Given the description of an element on the screen output the (x, y) to click on. 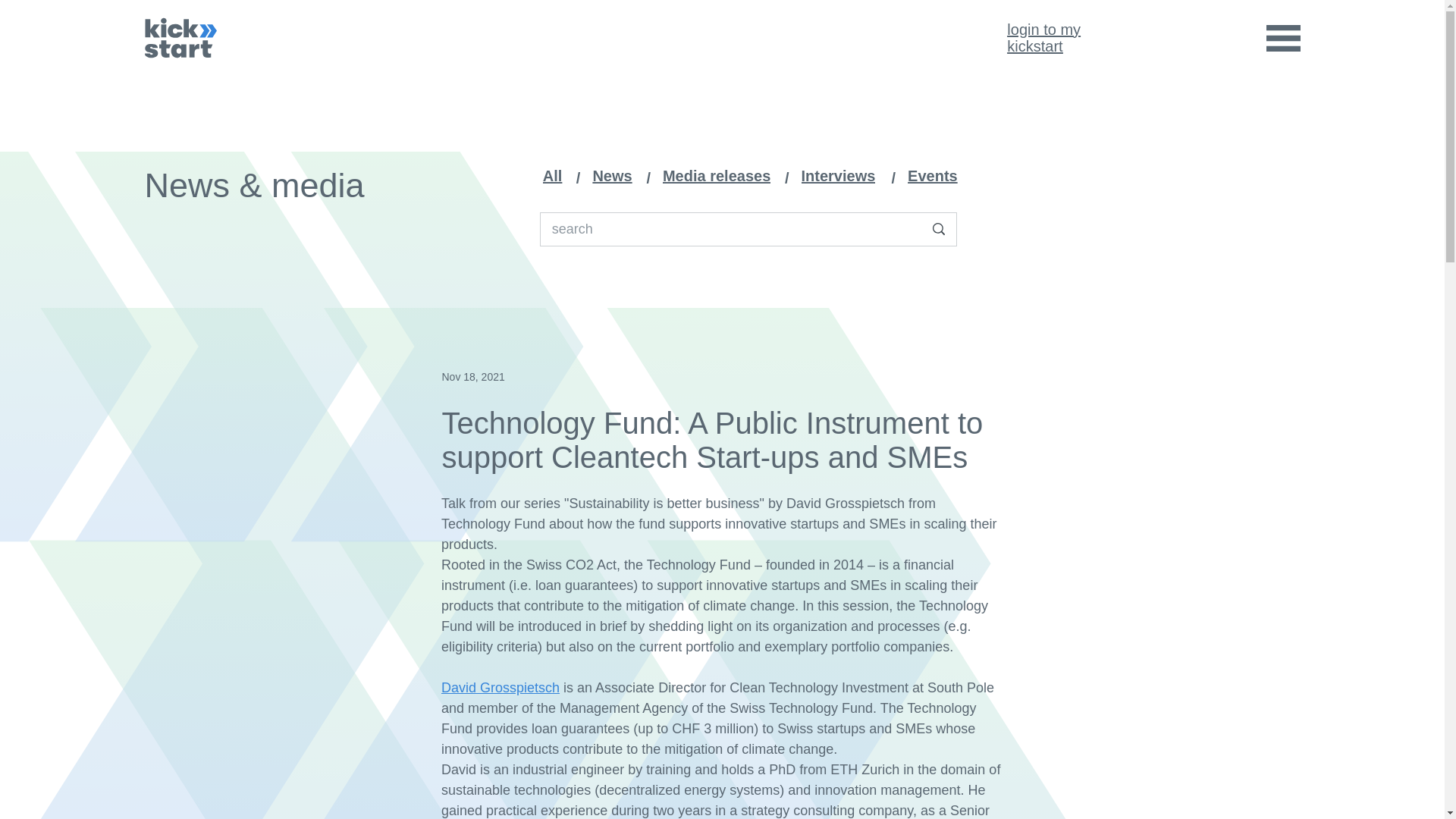
Interviews (1043, 37)
Events (842, 176)
Nov 18, 2021 (936, 176)
News (472, 376)
Media releases (615, 176)
All (719, 176)
David Grosspietsch (556, 176)
